Given the description of an element on the screen output the (x, y) to click on. 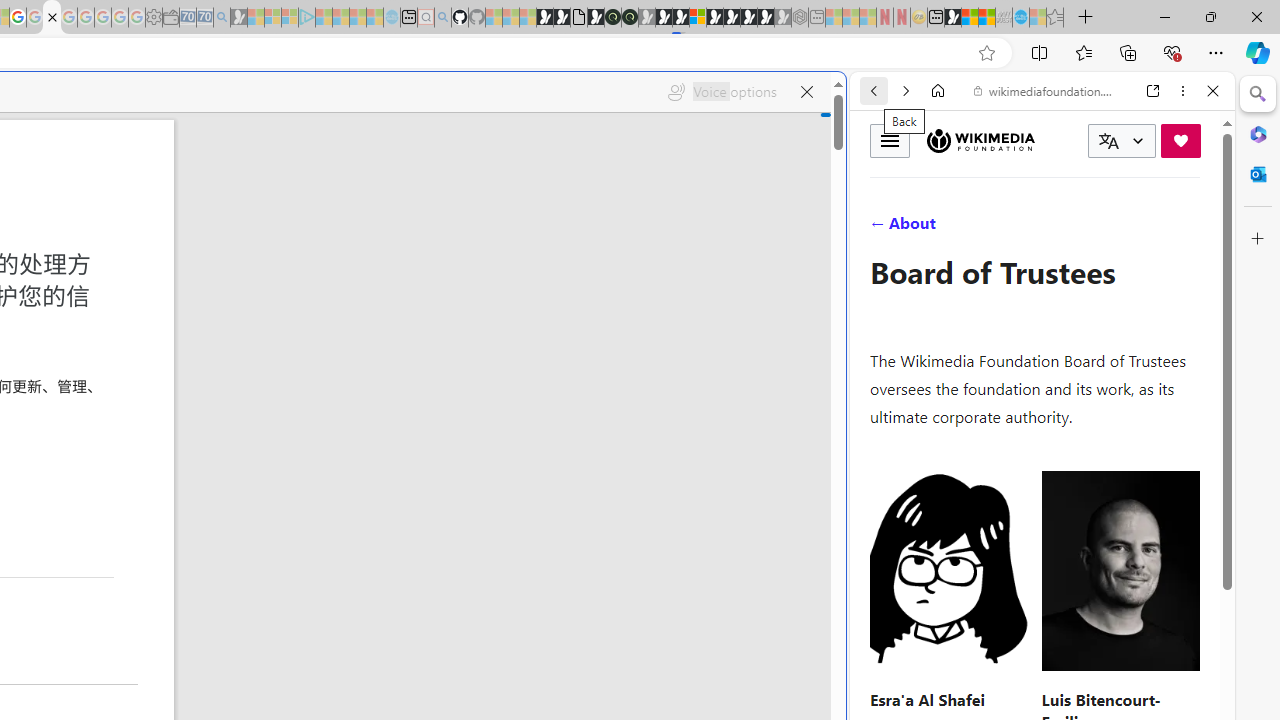
Donate now (1180, 140)
Voice options (721, 92)
Frequently visited (418, 265)
Toggle menu (890, 140)
